Given the description of an element on the screen output the (x, y) to click on. 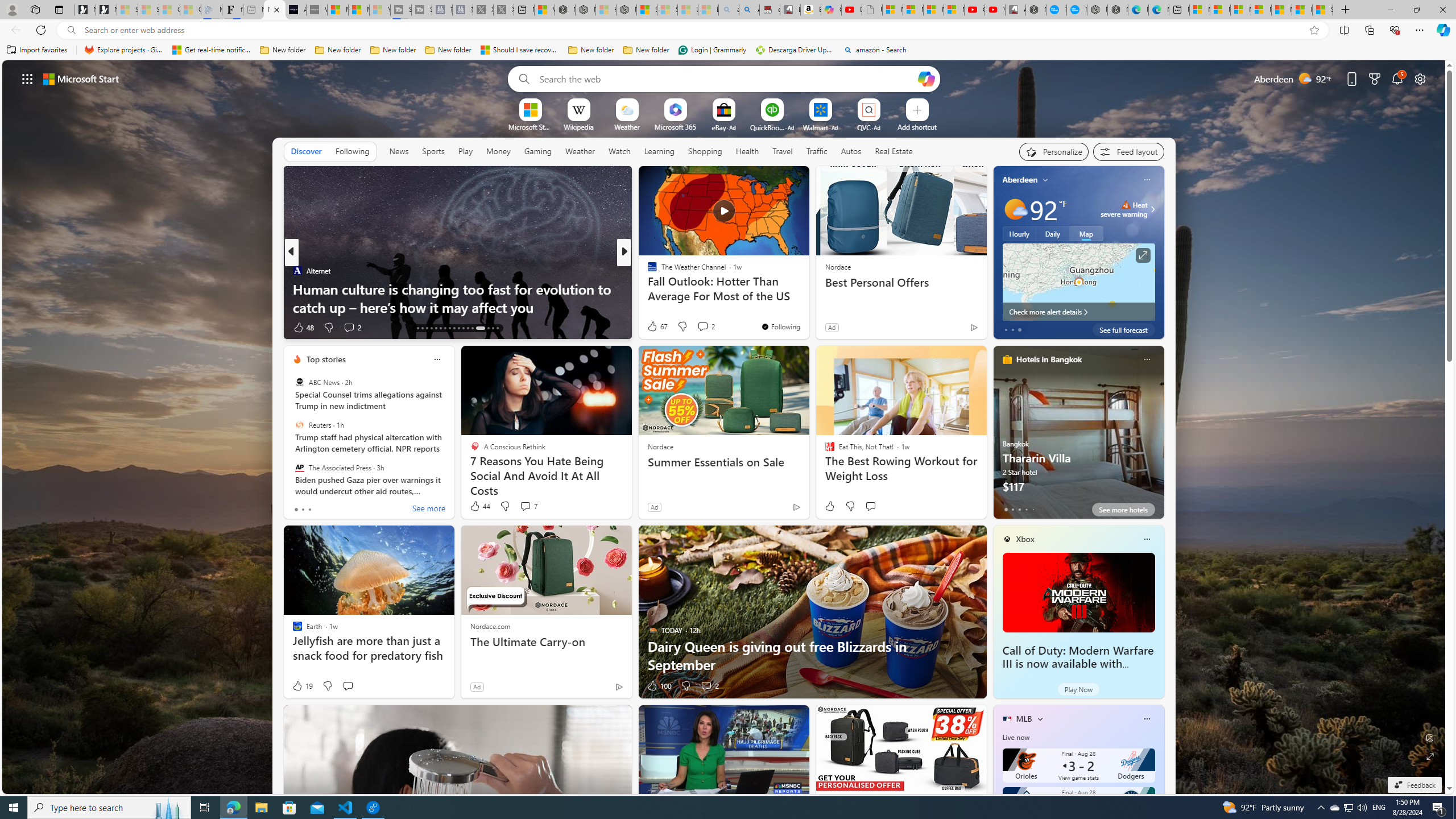
Nordace - Nordace Siena Is Not An Ordinary Backpack (626, 9)
Watch (619, 151)
Microsoft account | Microsoft Account Privacy Settings (1219, 9)
next (1158, 432)
Refresh (40, 29)
Money (497, 151)
New tab - Sleeping (253, 9)
100 Like (658, 685)
Shopping (705, 151)
You're following The Weather Channel (780, 326)
Microsoft account | Privacy (1261, 9)
AutomationID: tab-22 (440, 328)
Workspaces (34, 9)
